Given the description of an element on the screen output the (x, y) to click on. 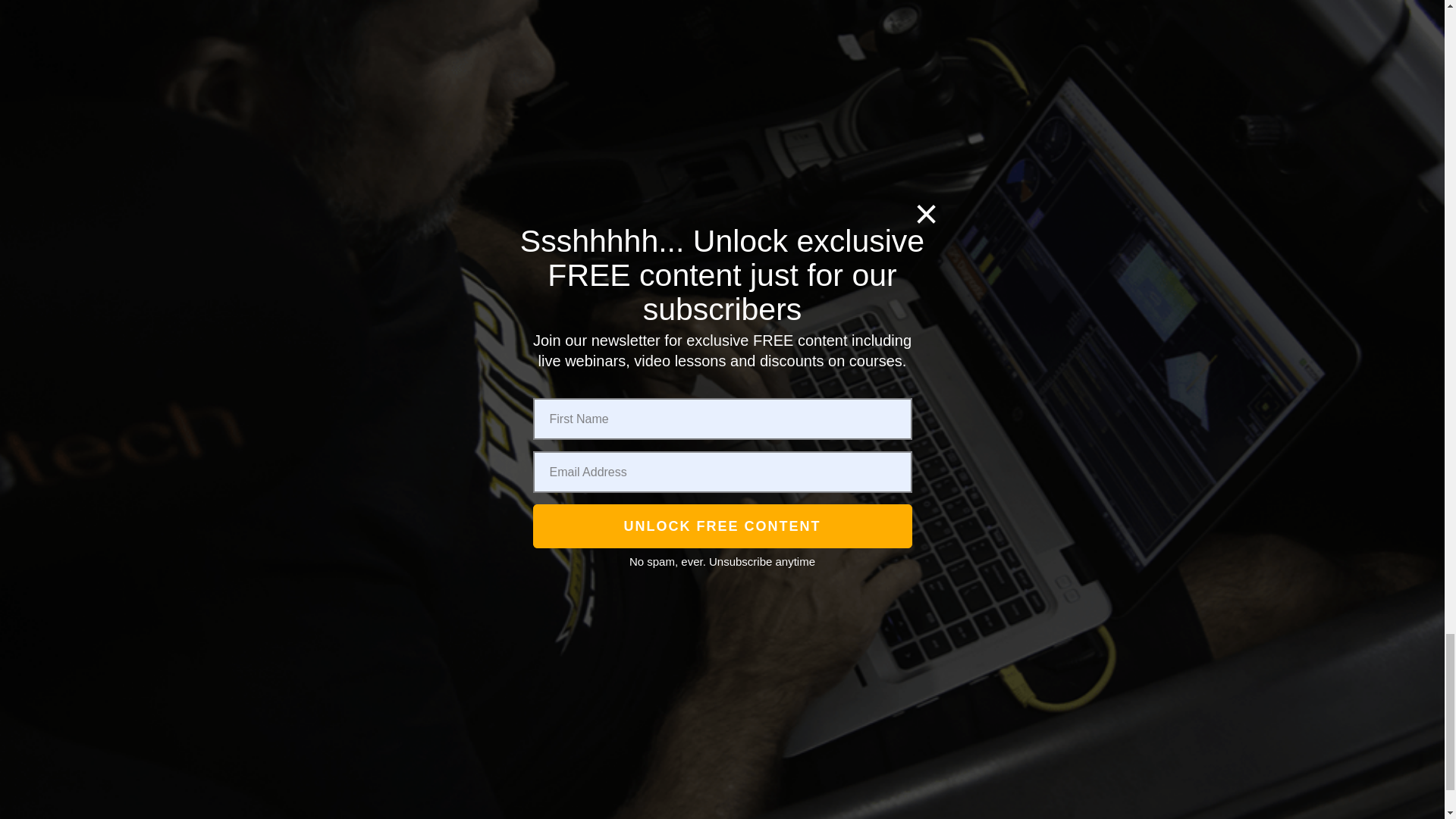
Click here to reply to this topic (1009, 36)
